Given the description of an element on the screen output the (x, y) to click on. 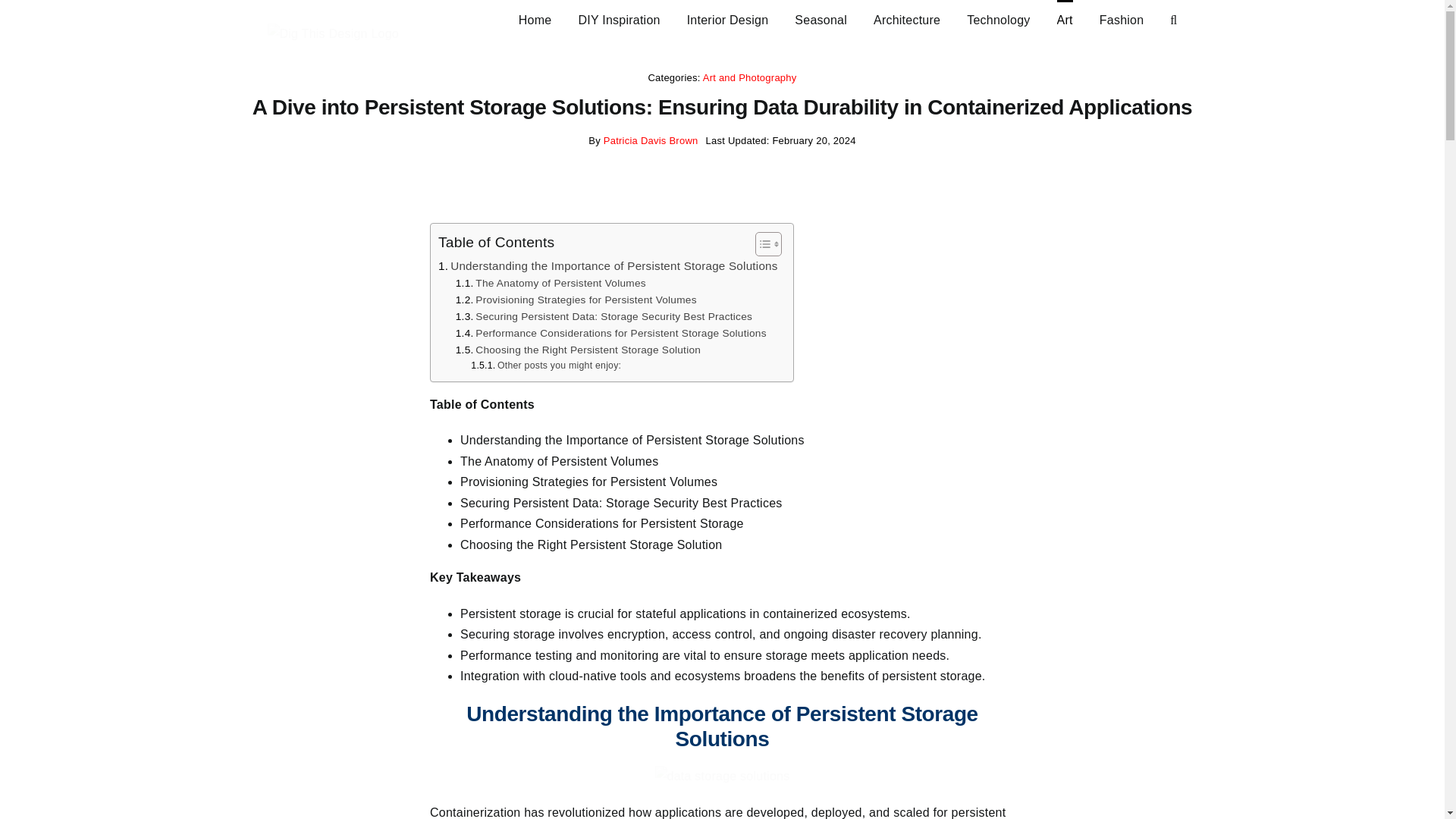
Architecture (906, 18)
DIY Inspiration (618, 18)
diy-inspiration (618, 18)
Interior Design (727, 18)
interior-design (727, 18)
Seasonal (820, 18)
